Given the description of an element on the screen output the (x, y) to click on. 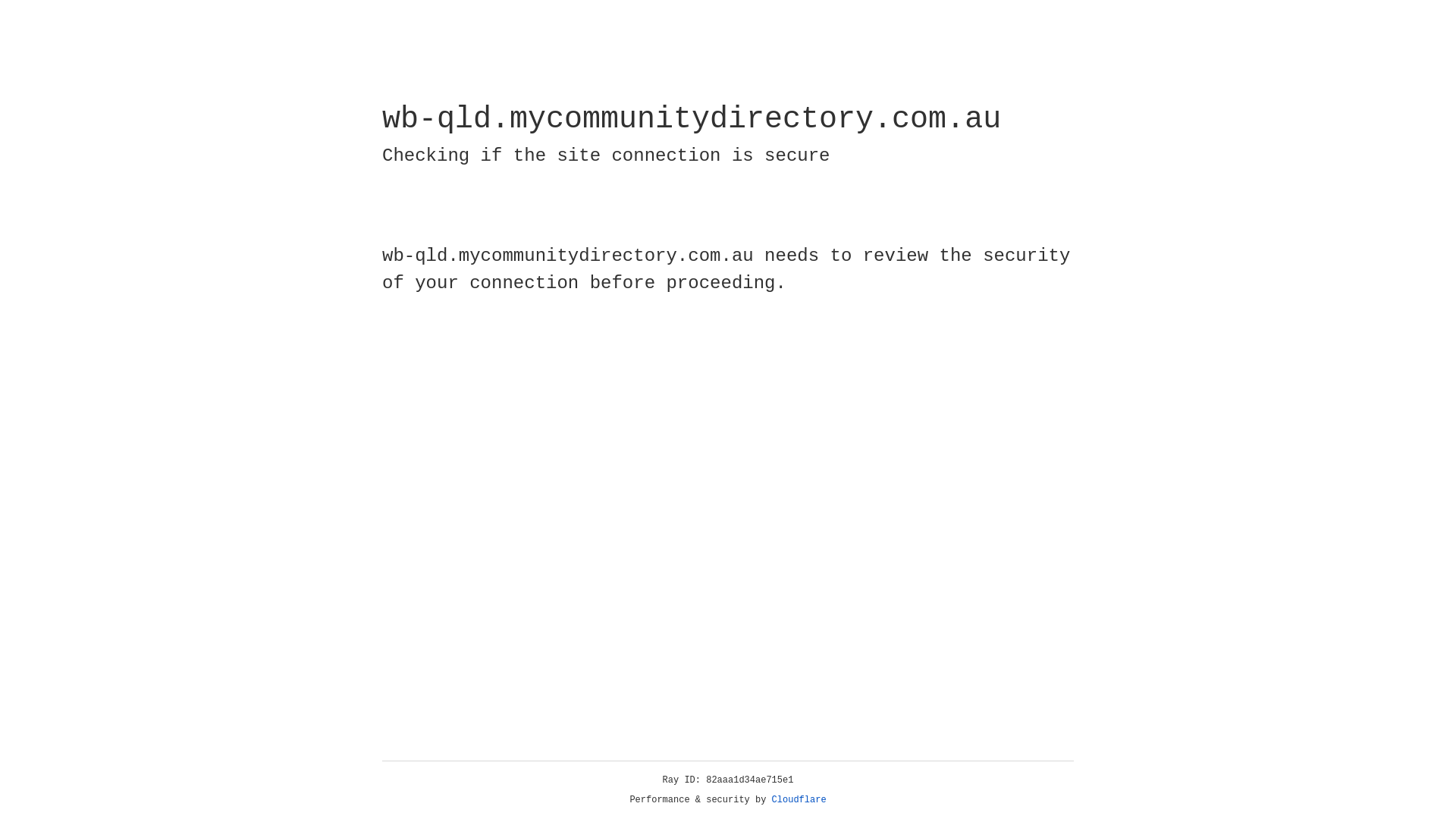
Cloudflare Element type: text (798, 799)
